Given the description of an element on the screen output the (x, y) to click on. 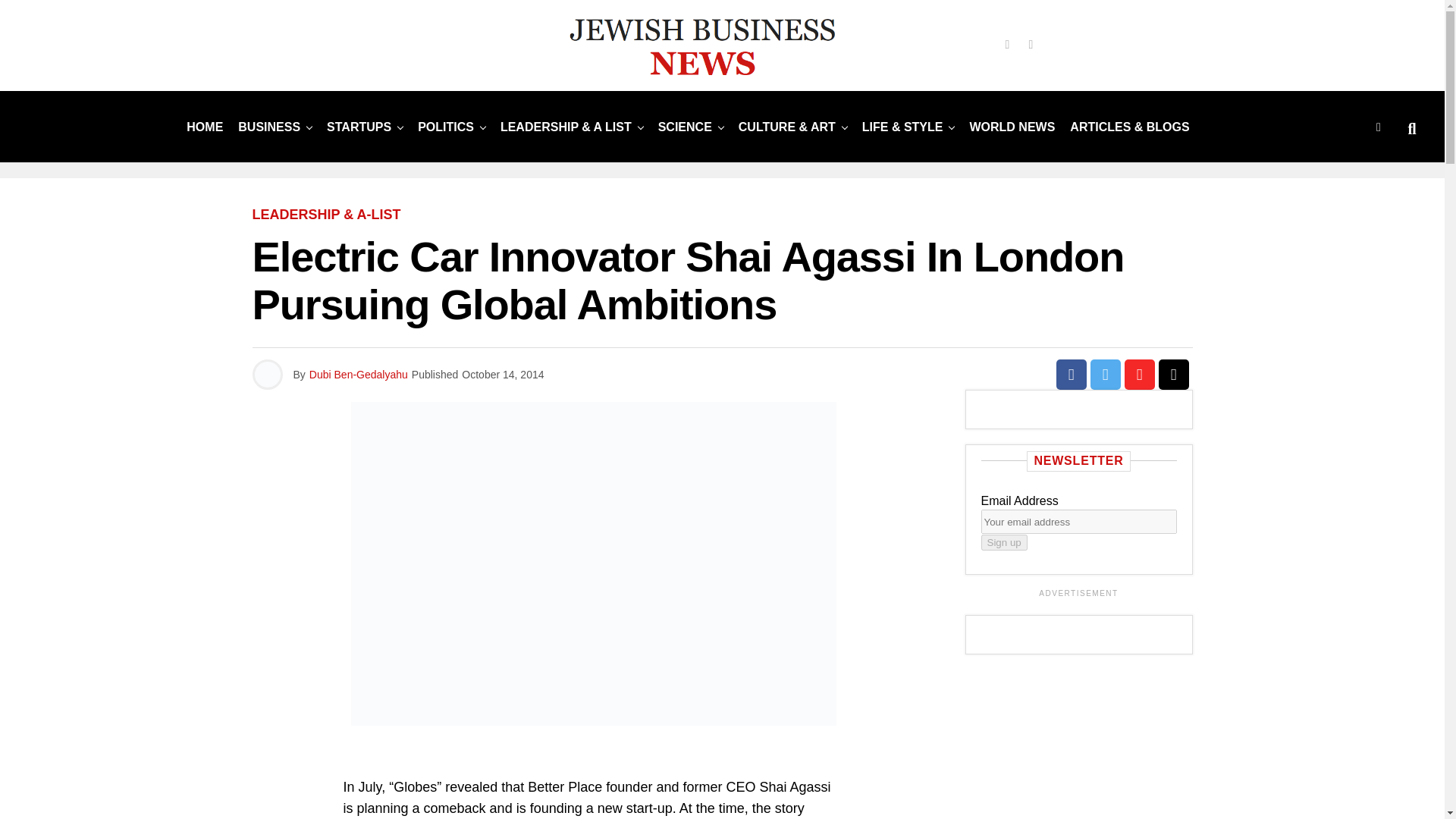
Sign up (1004, 542)
Share on Flipboard (1139, 374)
New Research (684, 126)
Tweet This Post (1105, 374)
Share on Facebook (1070, 374)
Posts by Dubi Ben-Gedalyahu (357, 374)
